Given the description of an element on the screen output the (x, y) to click on. 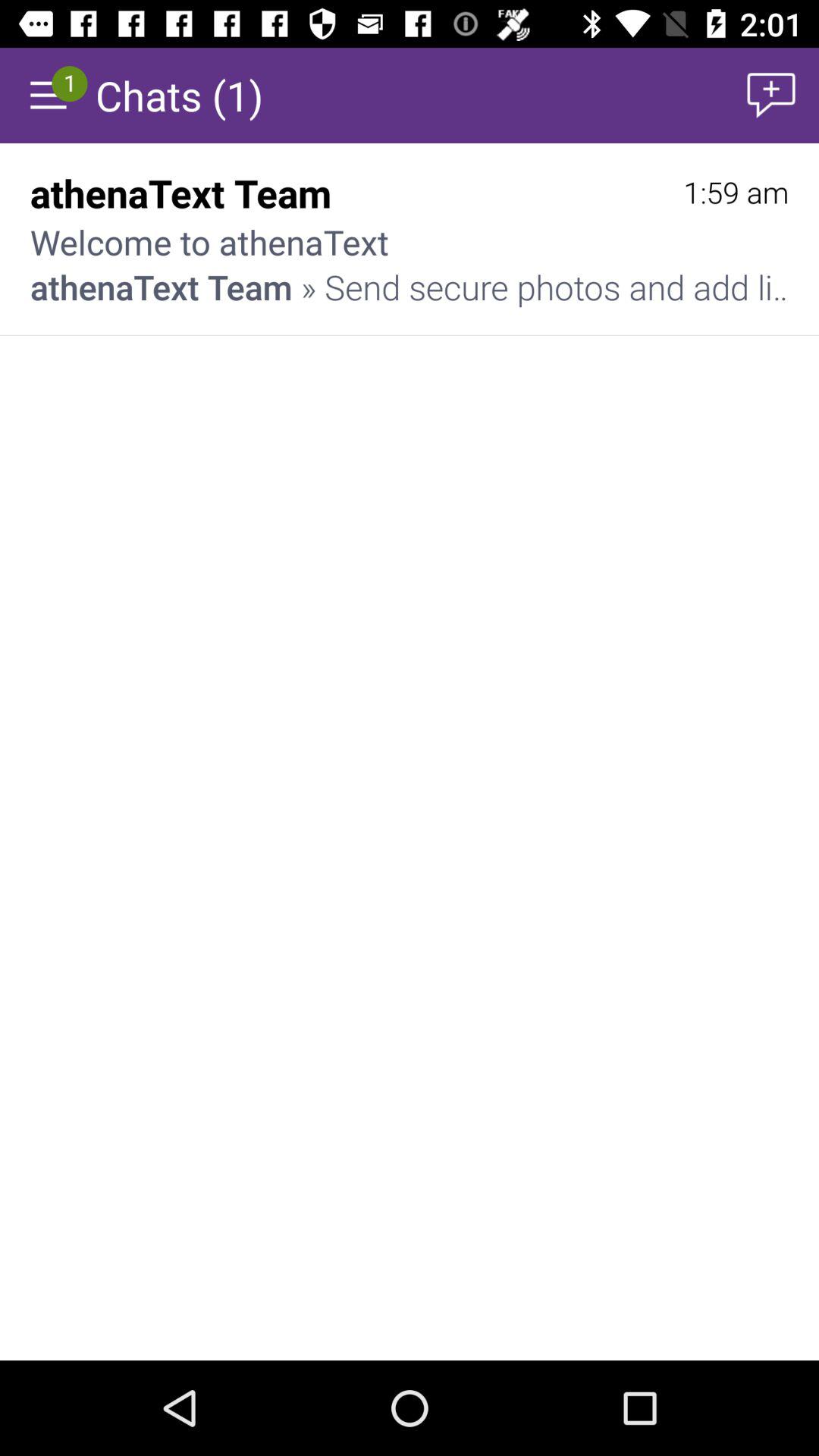
click item above 1:59 am (771, 95)
